Given the description of an element on the screen output the (x, y) to click on. 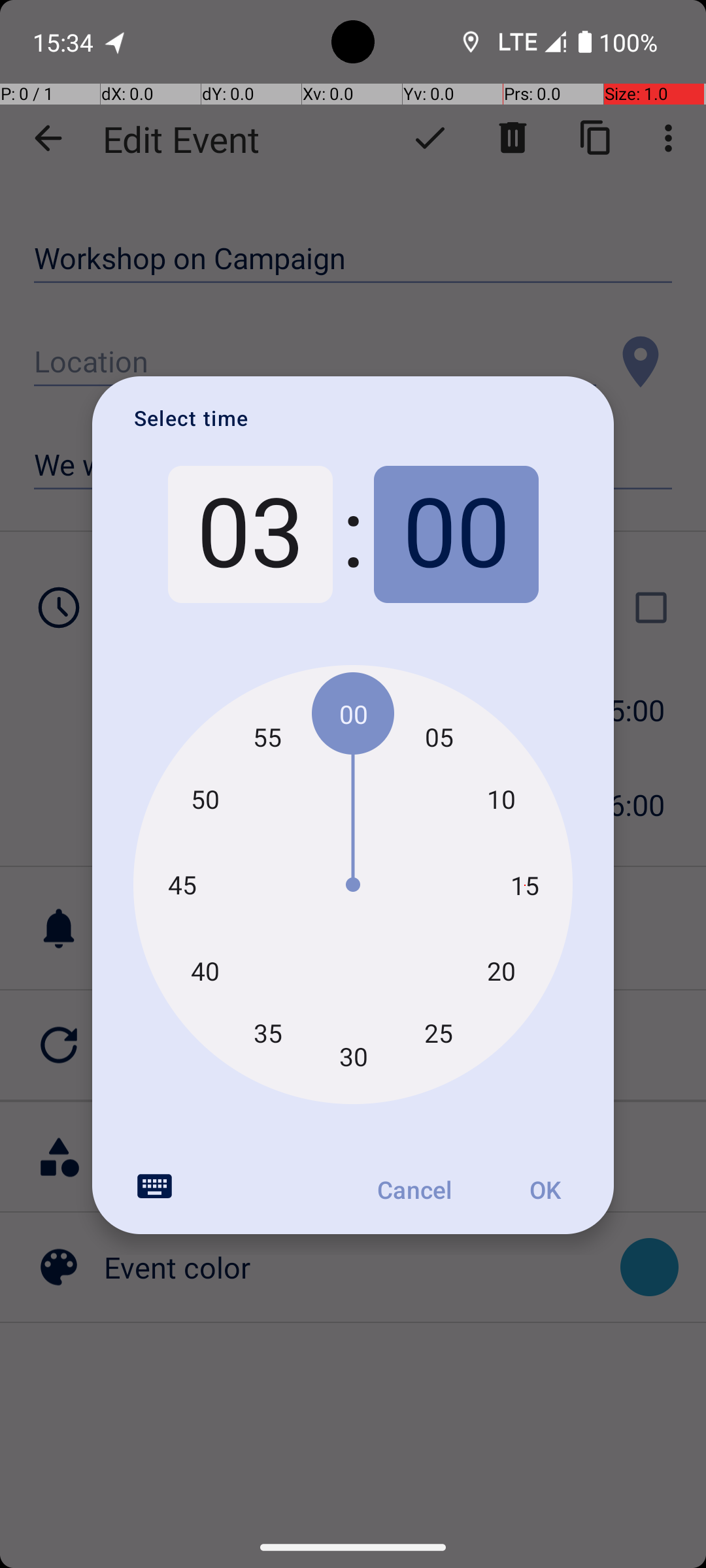
03 Element type: android.view.View (250, 534)
